Given the description of an element on the screen output the (x, y) to click on. 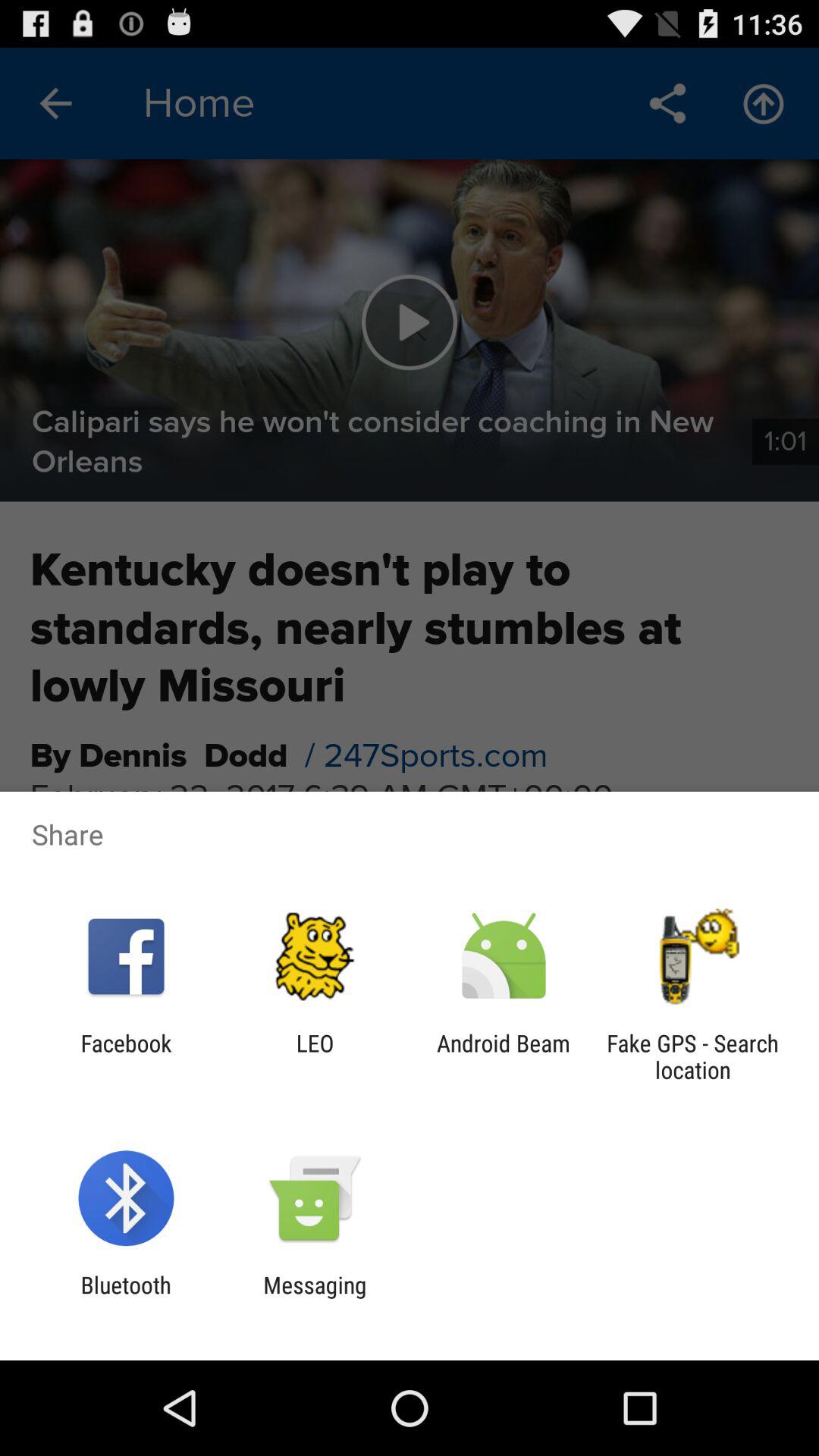
open icon next to the leo item (503, 1056)
